Given the description of an element on the screen output the (x, y) to click on. 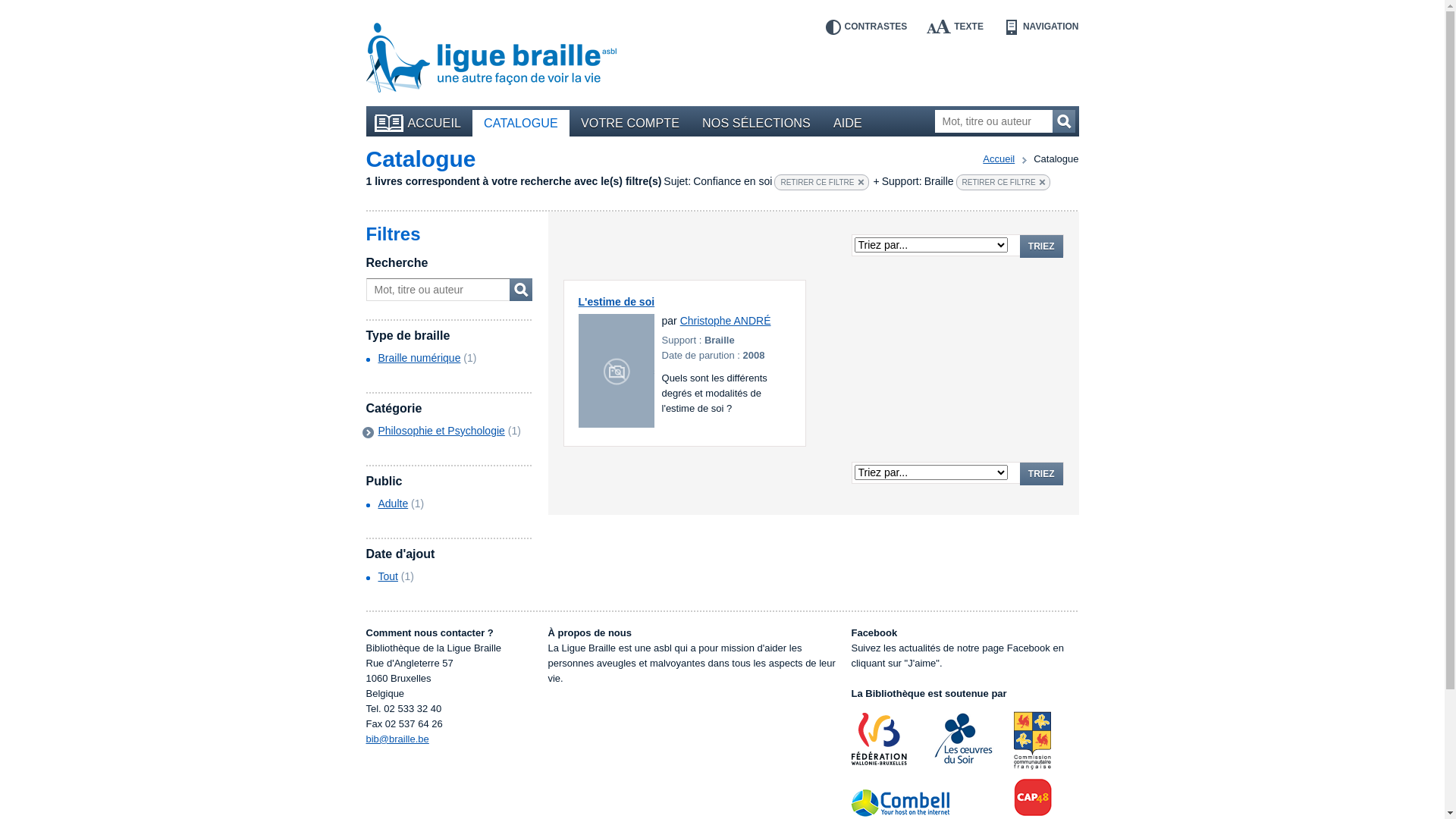
Accueil Element type: text (998, 158)
L'estime de soi Element type: text (616, 301)
Mot, titre ou auteur Element type: hover (1004, 120)
MOT, TITRE OU AUTEUR Element type: text (520, 289)
Philosophie et Psychologie Element type: text (440, 430)
CONTRASTES Element type: text (866, 26)
RECHERCHEZ Element type: text (1063, 120)
ACCUEIL Element type: text (421, 122)
NAVIGATION Element type: text (1041, 26)
Adulte Element type: text (392, 503)
TEXTE Element type: text (954, 26)
RETIRER CE FILTRE Element type: text (821, 182)
Tout Element type: text (387, 576)
TRIEZ Element type: text (1041, 473)
AIDE Element type: text (847, 122)
TRIEZ Element type: text (1041, 246)
RETIRER CE FILTRE Element type: text (1003, 182)
VOTRE COMPTE Element type: text (629, 122)
bib@braille.be Element type: text (396, 738)
CATALOGUE Element type: text (520, 122)
